Given the description of an element on the screen output the (x, y) to click on. 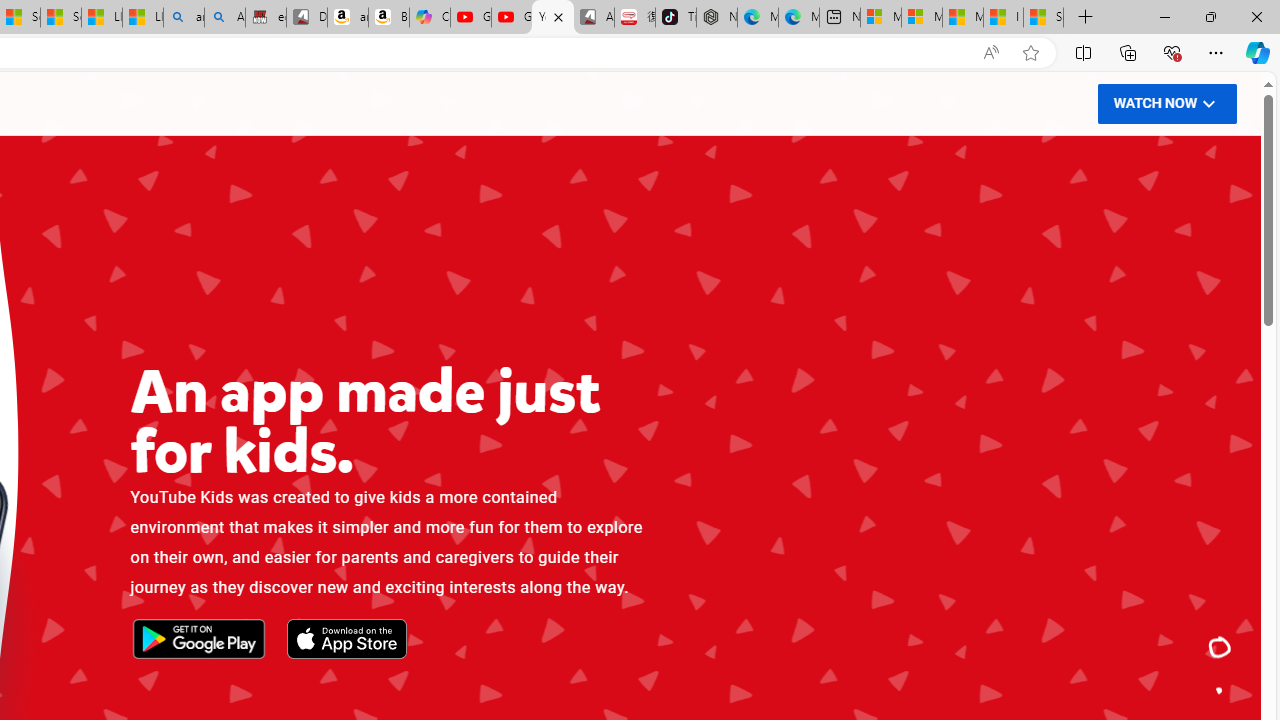
Get it on Google Play (198, 639)
YouTube Kids - An App Created for Kids to Explore Content (552, 17)
Class: ytk-dot-nav__dot (1219, 690)
Download on the App Store (346, 639)
A safer online experience for kids. (1219, 690)
Download on the App Store (346, 639)
amazon.in/dp/B0CX59H5W7/?tag=gsmcom05-21 (347, 17)
